Given the description of an element on the screen output the (x, y) to click on. 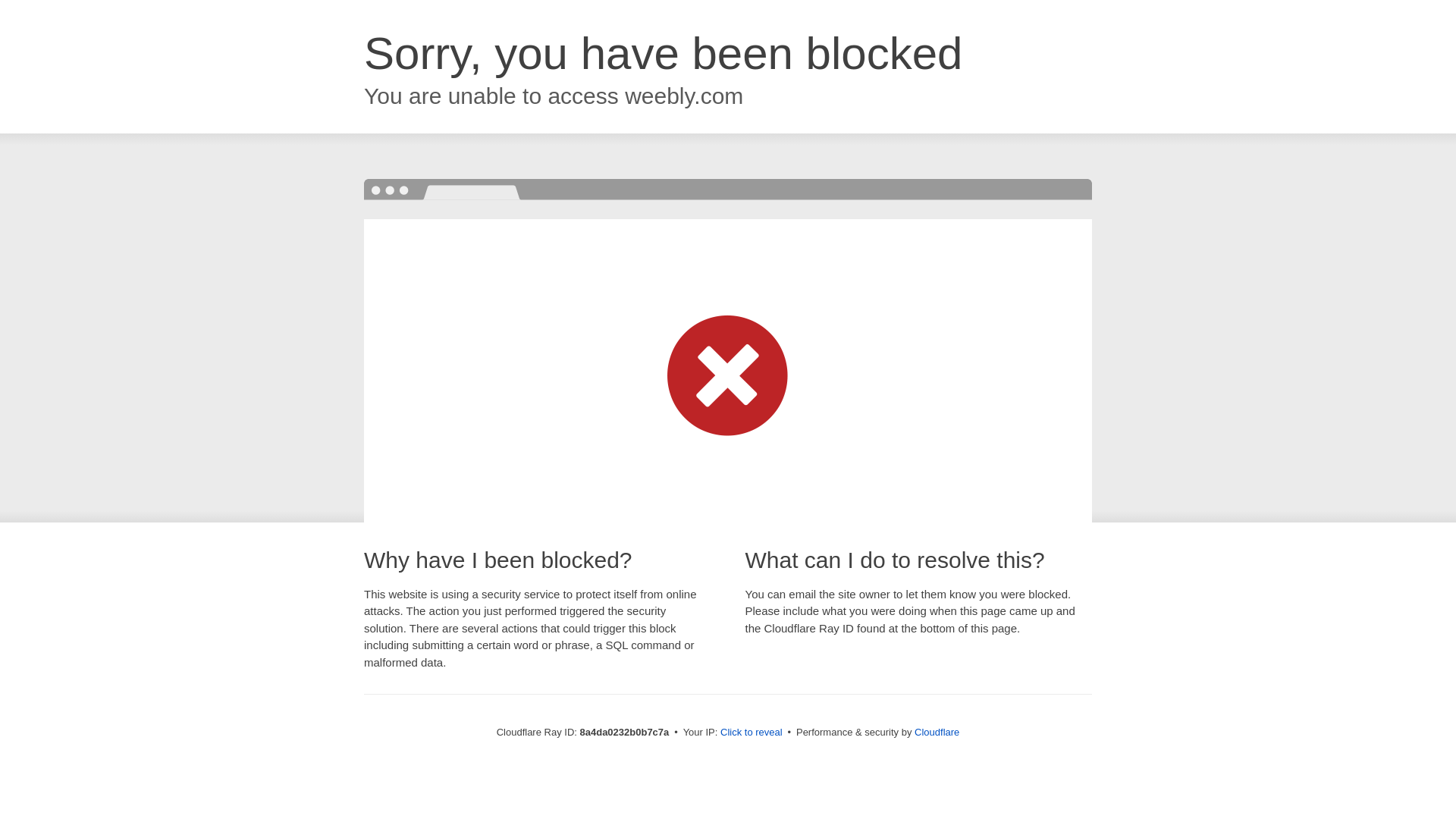
Cloudflare (936, 731)
Click to reveal (751, 732)
